Given the description of an element on the screen output the (x, y) to click on. 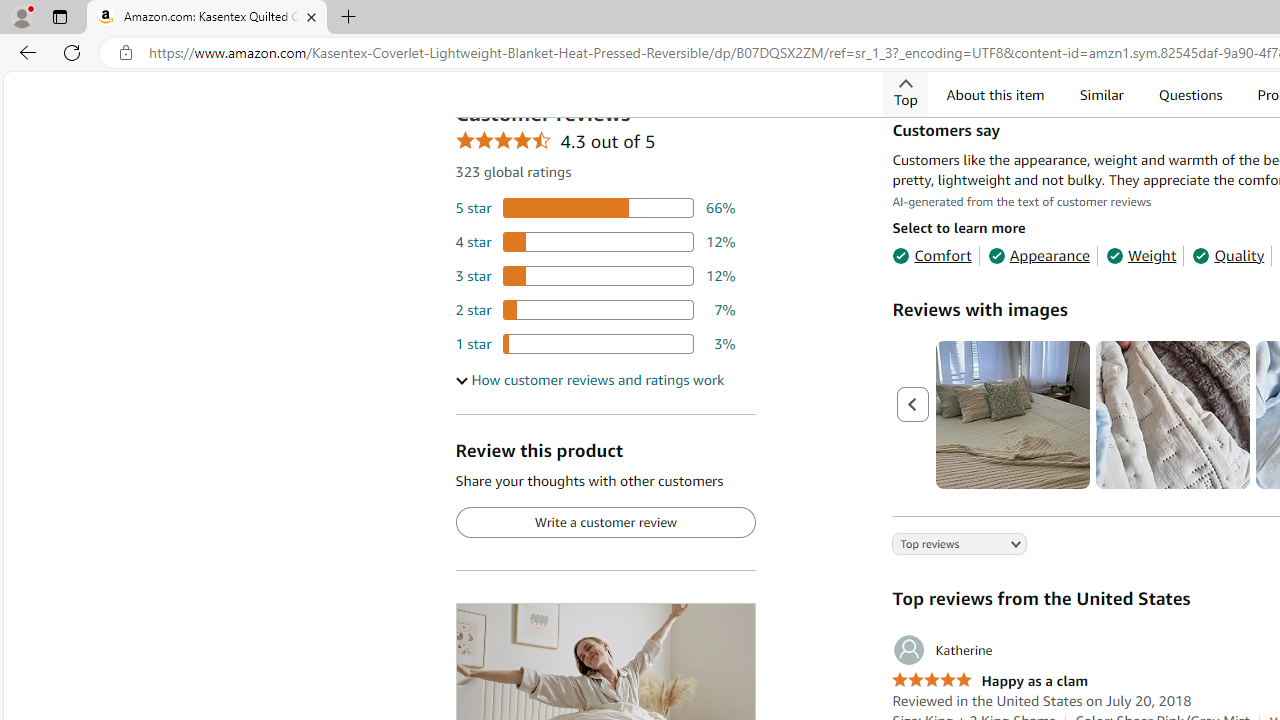
Customer Image (1172, 413)
Write a customer review (605, 521)
12 percent of reviews have 3 stars (595, 274)
Quality (1227, 254)
Customer Image (1172, 413)
Appearance (1038, 254)
3 percent of reviews have 1 stars (595, 343)
5.0 out of 5 stars Happy as a clam (990, 681)
Questions (1190, 94)
